Given the description of an element on the screen output the (x, y) to click on. 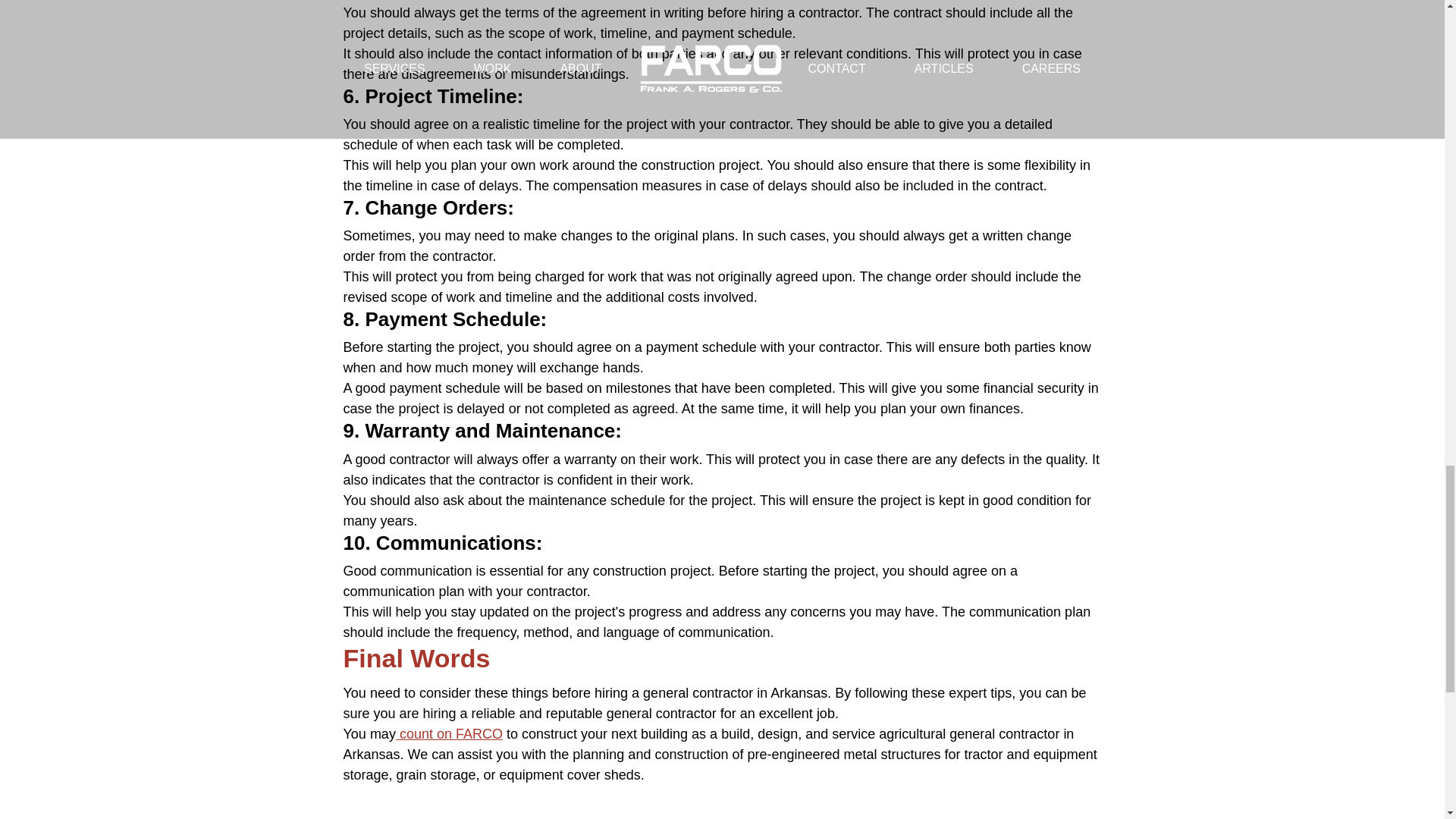
count on FARCO (449, 734)
